Given the description of an element on the screen output the (x, y) to click on. 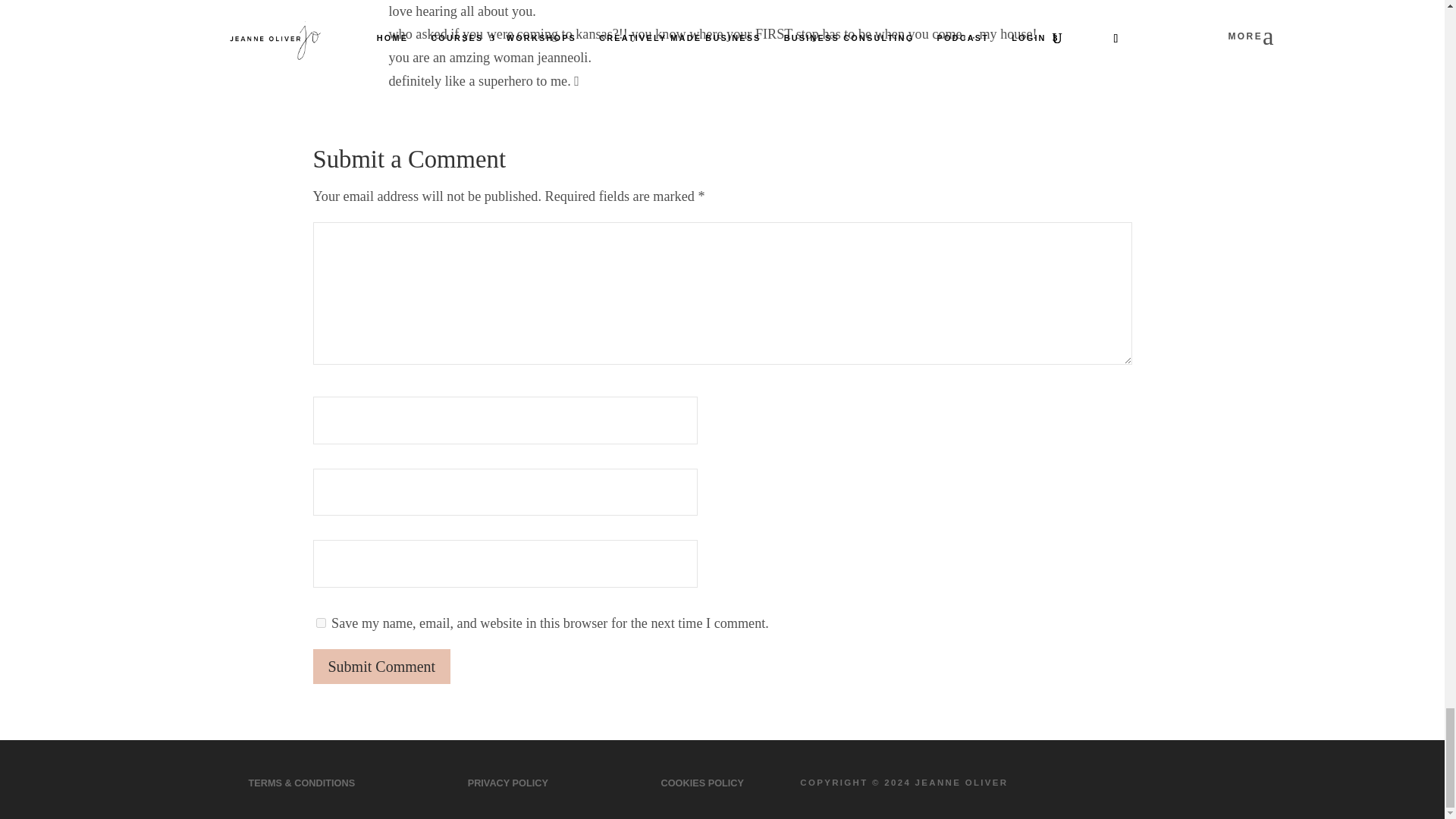
yes (319, 623)
Submit Comment (381, 666)
